Given the description of an element on the screen output the (x, y) to click on. 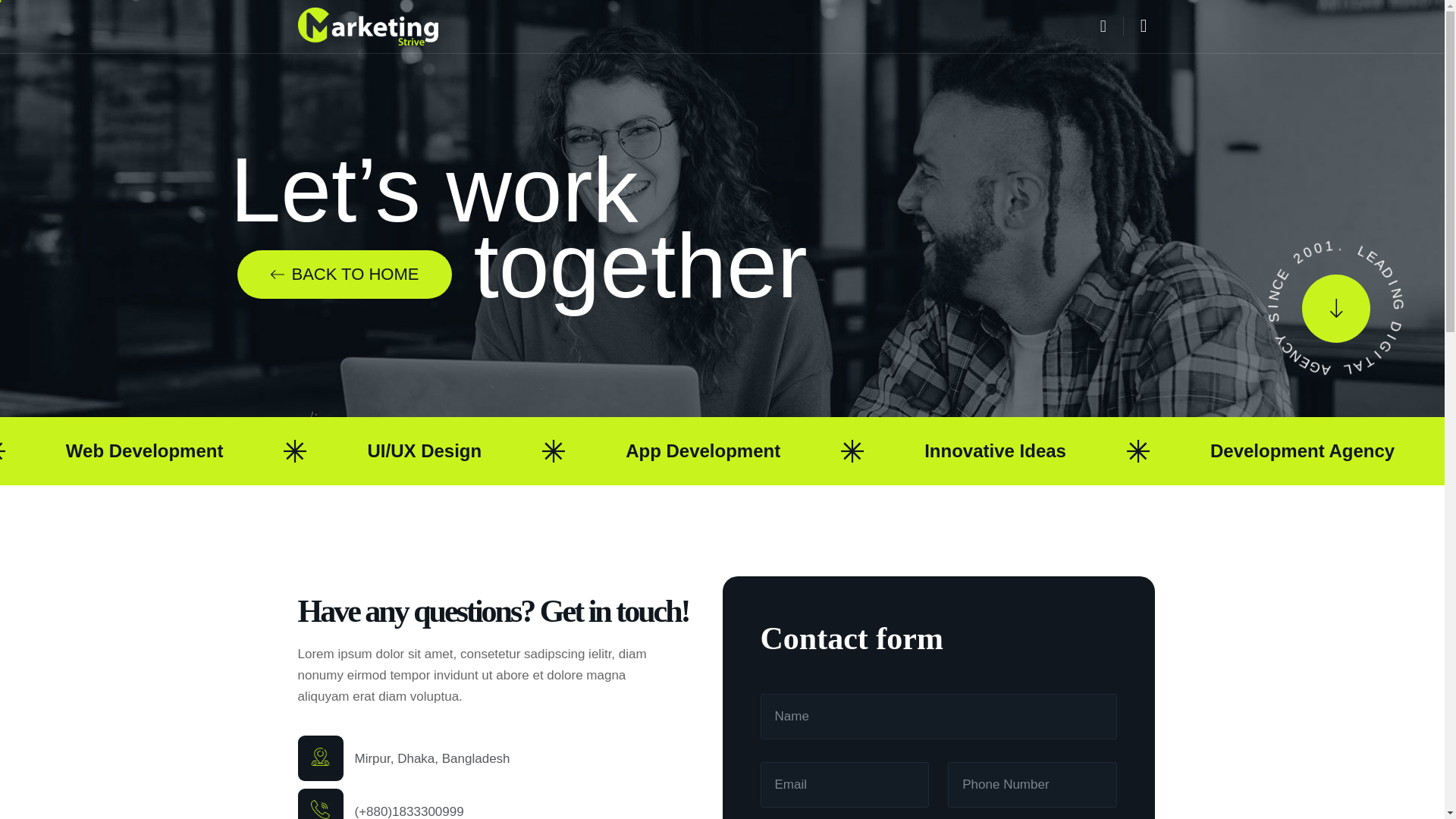
BACK TO HOME (343, 274)
